Given the description of an element on the screen output the (x, y) to click on. 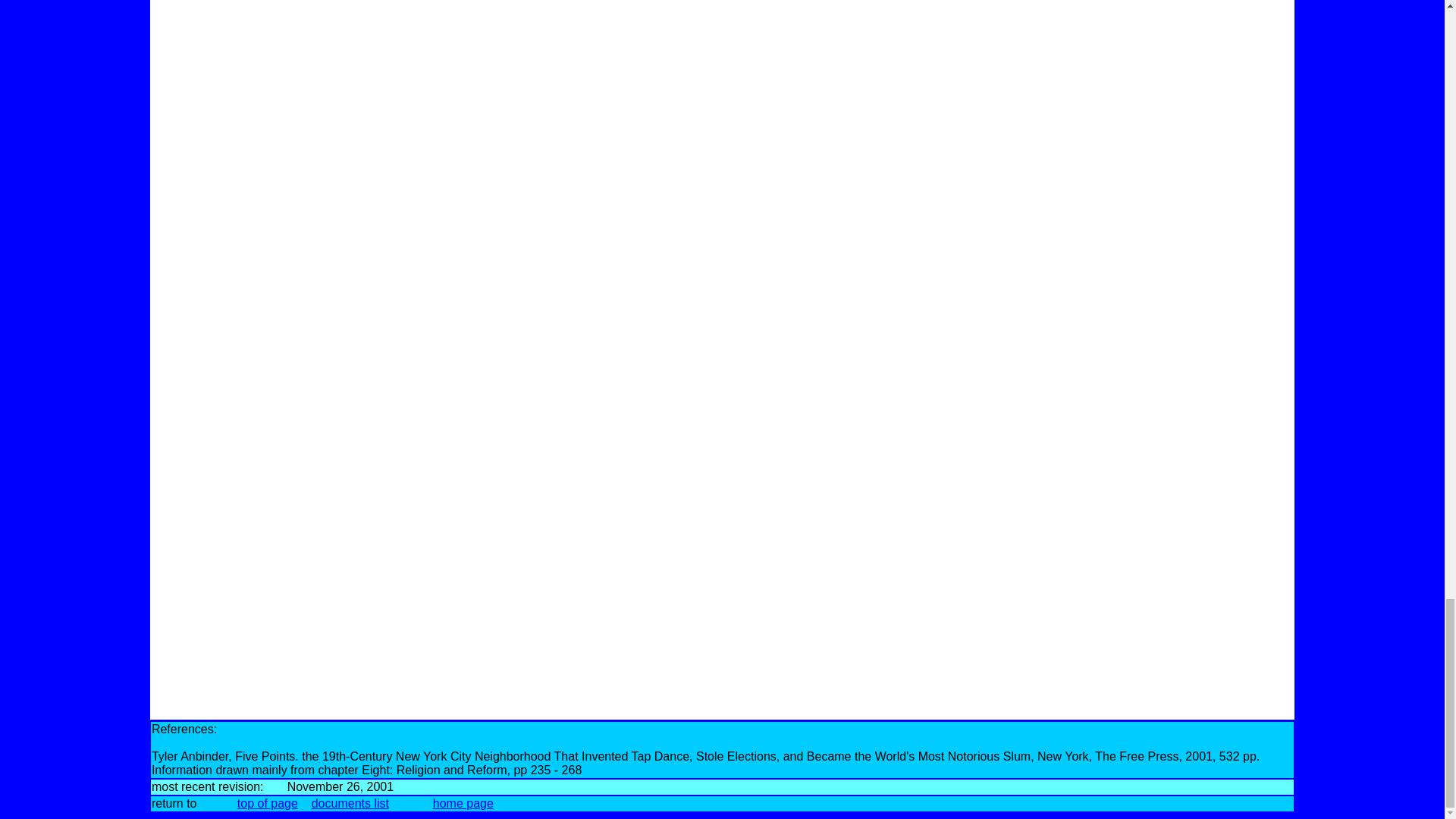
home page (462, 802)
documents list (349, 802)
top of page (267, 802)
